Given the description of an element on the screen output the (x, y) to click on. 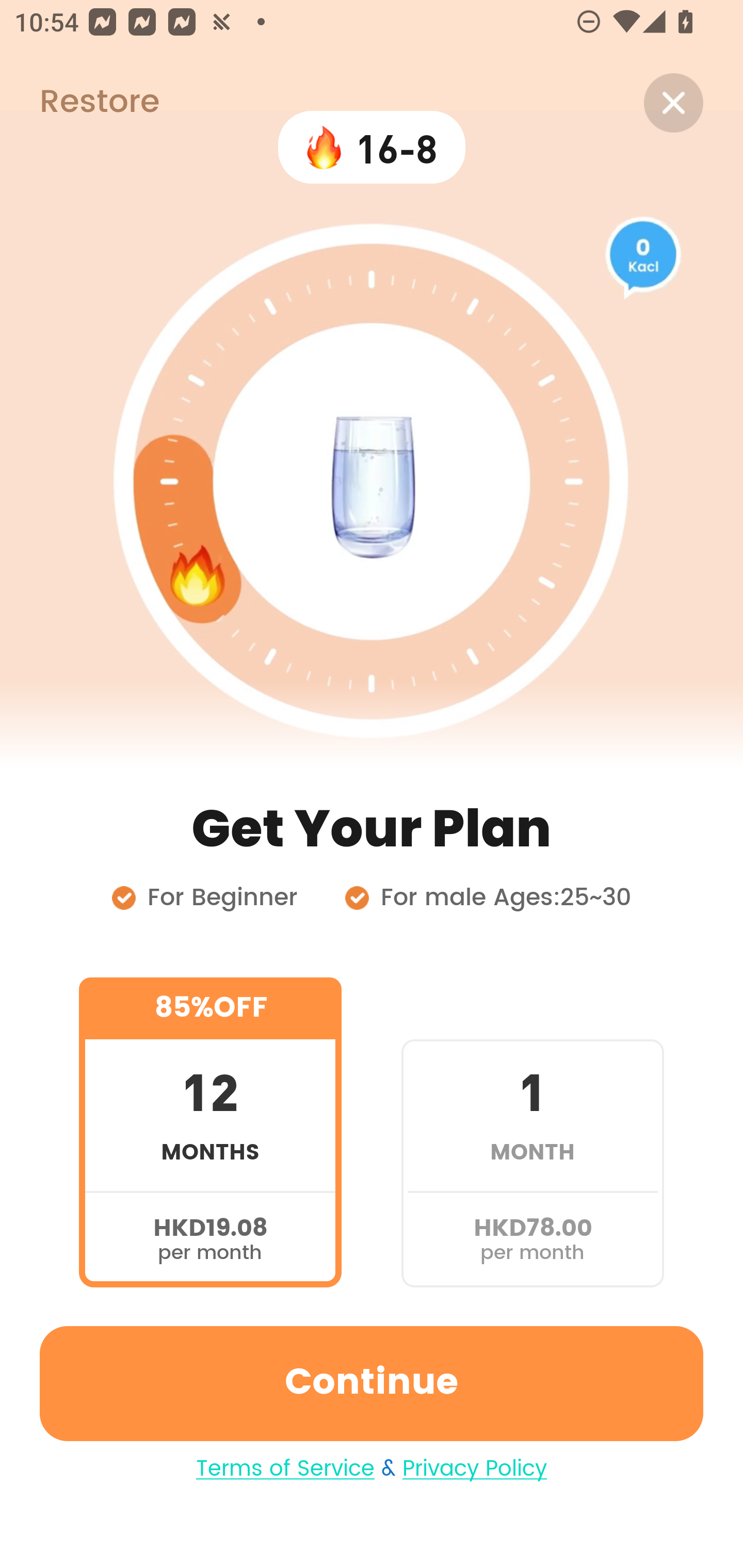
Restore (79, 102)
85%OFF 12 MONTHS per month HKD19.08 (209, 1131)
1 MONTH per month HKD78.00 (532, 1131)
Continue (371, 1383)
